Given the description of an element on the screen output the (x, y) to click on. 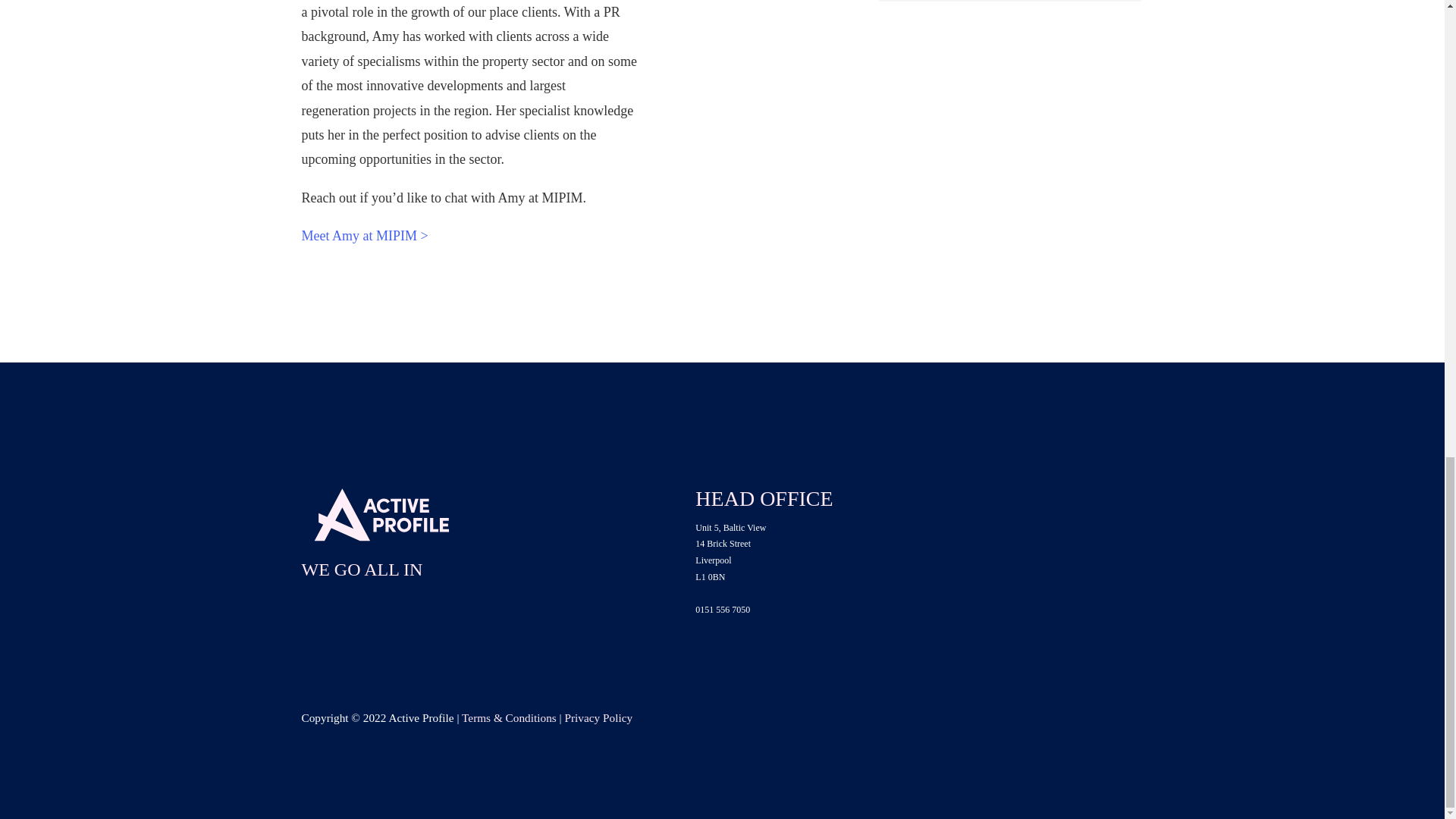
Privacy Policy (597, 717)
